Given the description of an element on the screen output the (x, y) to click on. 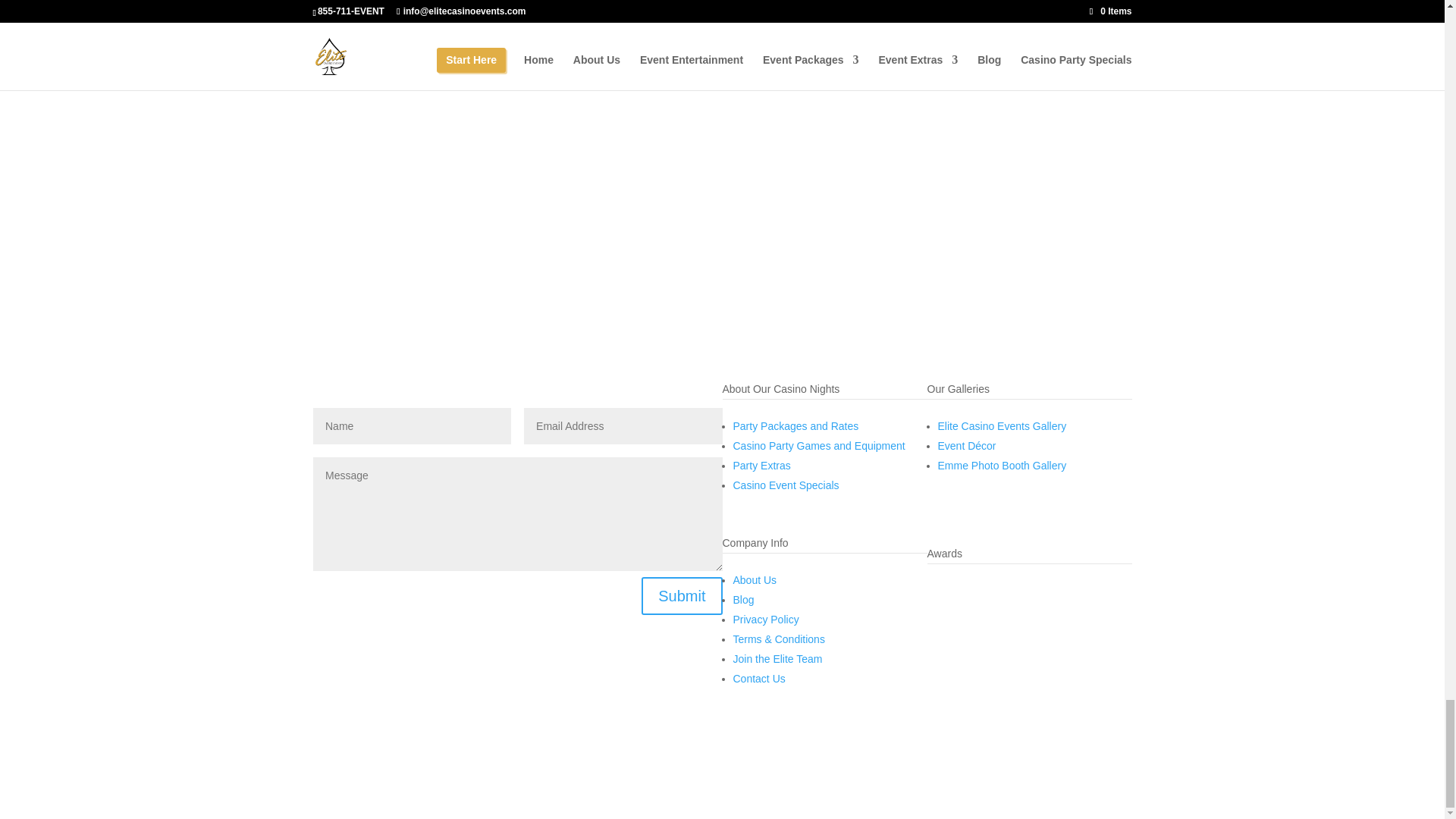
855-711-3836 (368, 642)
Party Extras (761, 465)
Casino Party Games and Equipment (818, 445)
Submit (682, 596)
Request a Quote (416, 158)
Party Packages and Rates (795, 426)
Follow on Instagram (968, 498)
Follow on Facebook (938, 498)
